Given the description of an element on the screen output the (x, y) to click on. 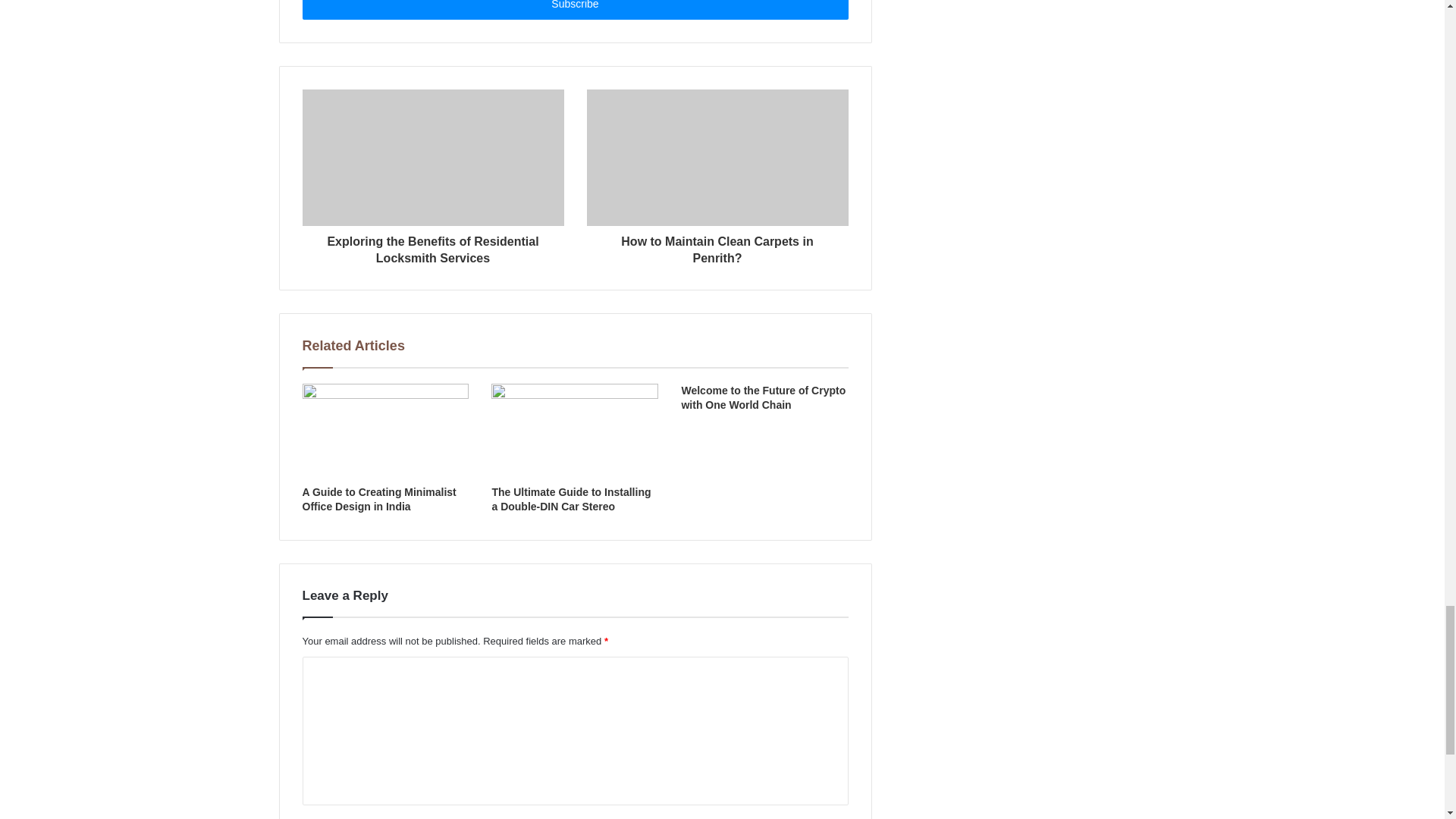
Subscribe (574, 9)
